Given the description of an element on the screen output the (x, y) to click on. 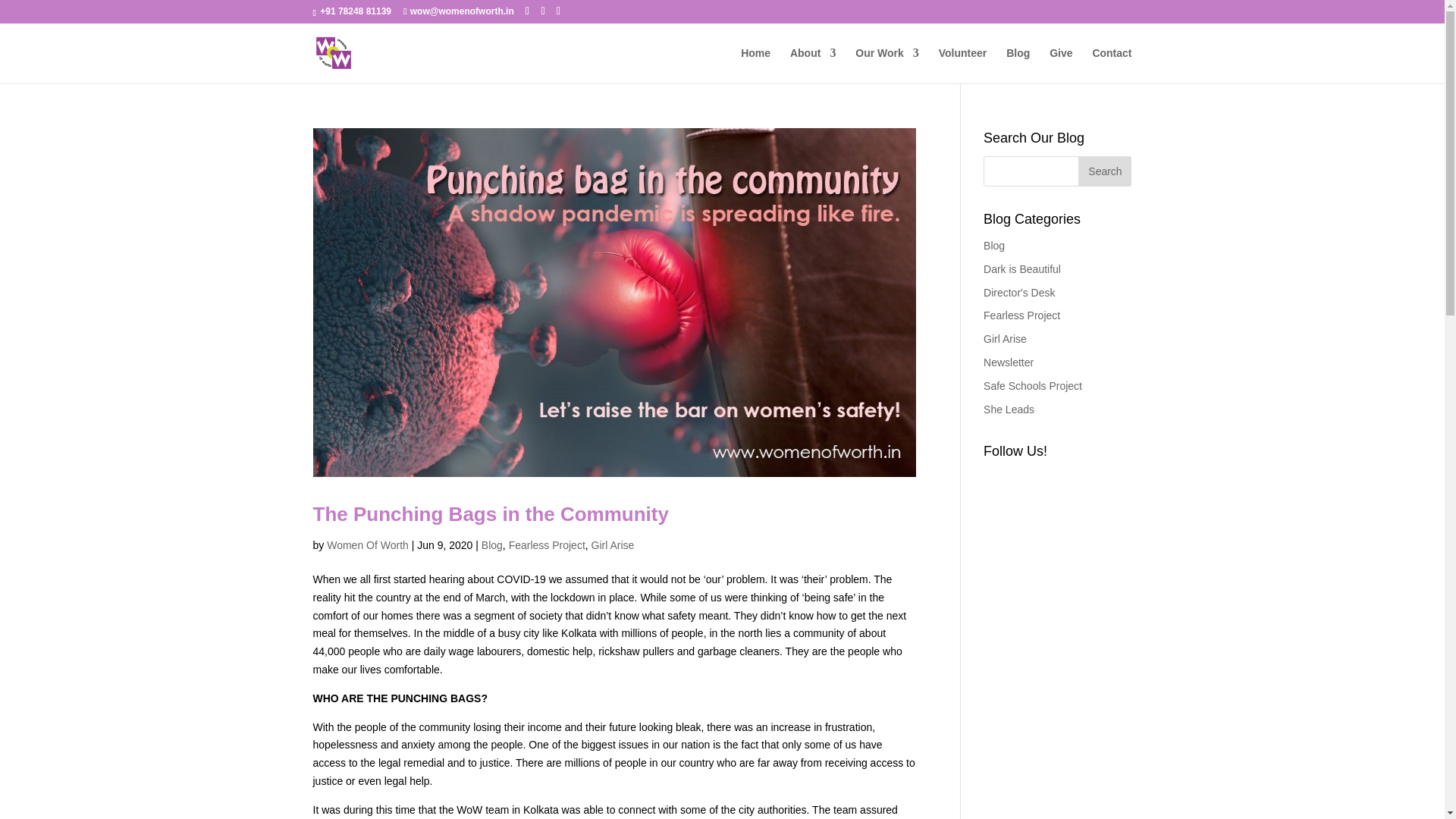
Fearless Project (1021, 315)
The Punching Bags in the Community (490, 513)
Our Work (887, 65)
Director's Desk (1019, 292)
Safe Schools Project (1032, 386)
Fearless Project (546, 544)
Girl Arise (612, 544)
Volunteer (963, 65)
Search (1104, 171)
About (812, 65)
